Given the description of an element on the screen output the (x, y) to click on. 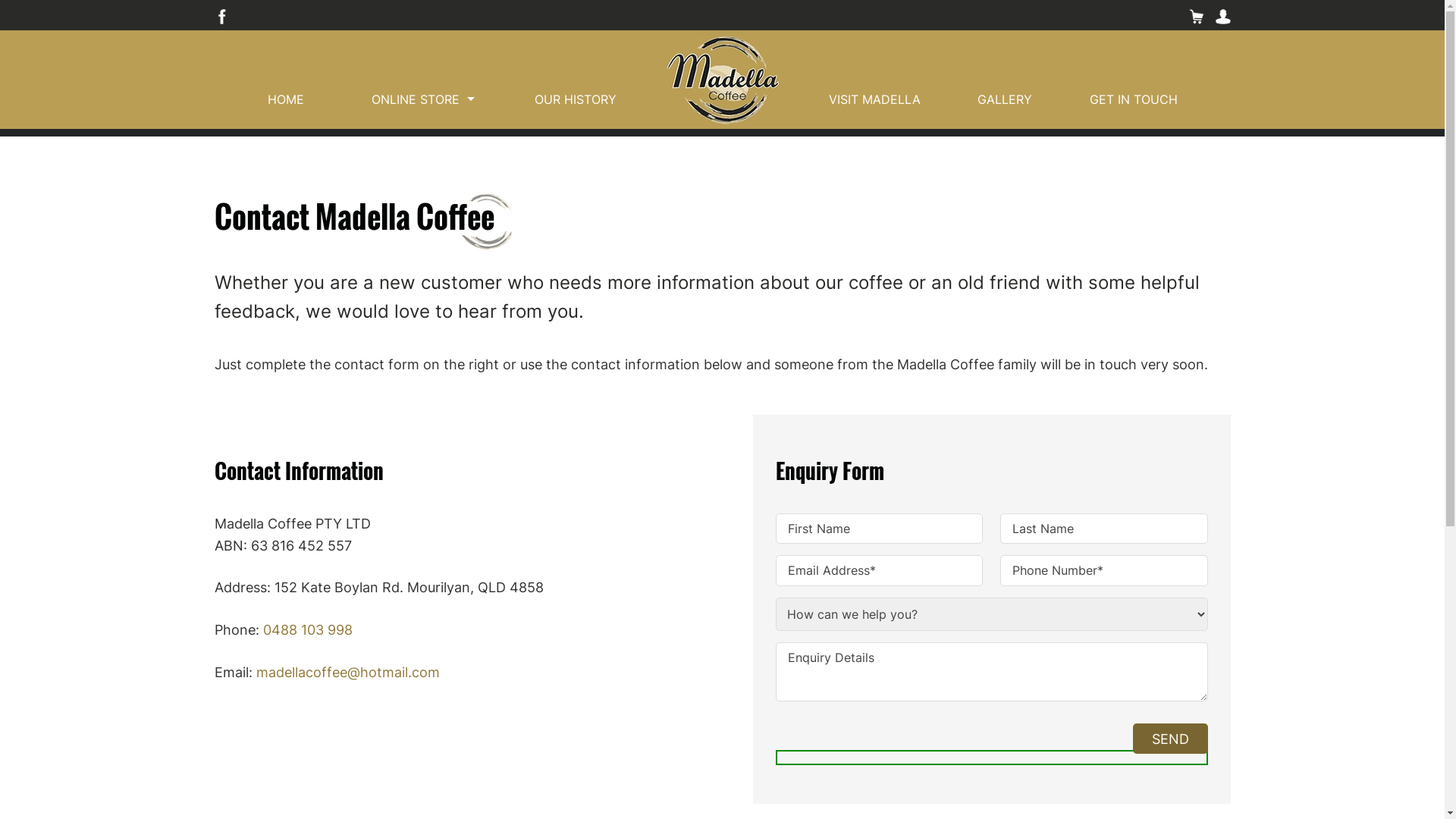
0488 103 998 Element type: text (306, 629)
OUR HISTORY Element type: text (574, 101)
VISIT MADELLA Element type: text (873, 101)
madellacoffee@hotmail.com Element type: text (347, 672)
ONLINE STORE Element type: text (415, 101)
HOME Element type: text (284, 101)
Send Element type: text (1170, 738)
GALLERY Element type: text (1004, 101)
GET IN TOUCH Element type: text (1132, 101)
